Given the description of an element on the screen output the (x, y) to click on. 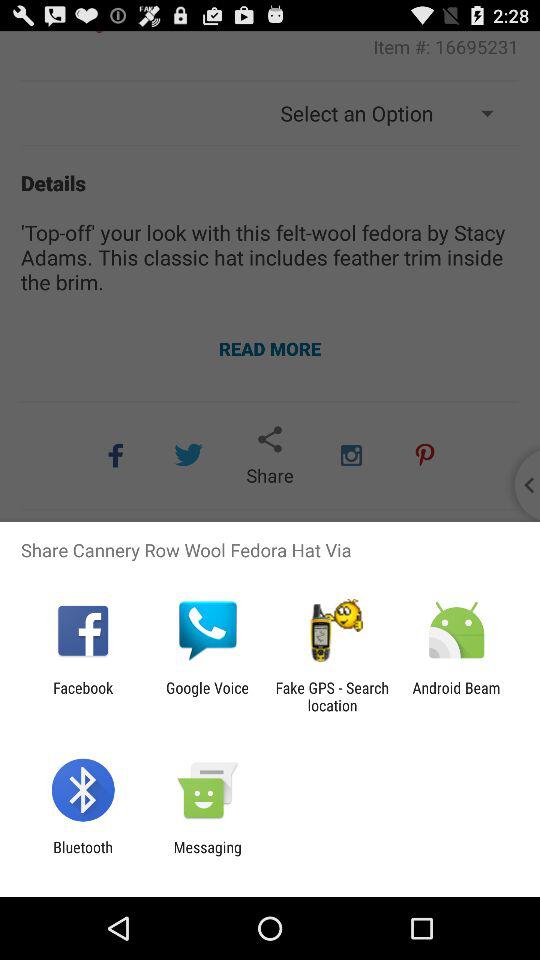
click item next to the messaging (82, 856)
